Given the description of an element on the screen output the (x, y) to click on. 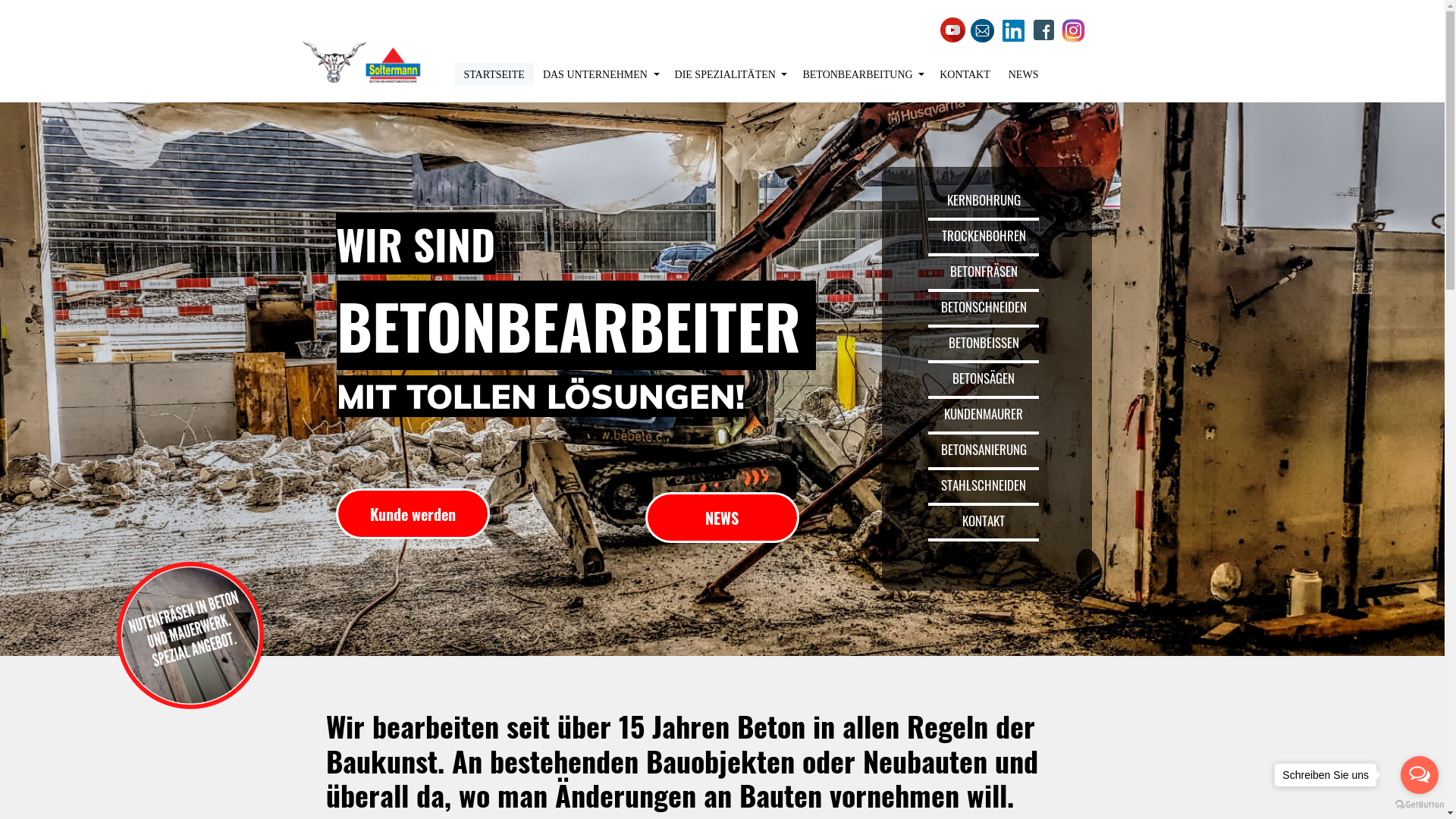
BETONSCHNEIDEN Element type: text (983, 306)
STARTSEITE Element type: text (493, 73)
TROCKENBOHREN Element type: text (983, 235)
STAHLSCHNEIDEN Element type: text (983, 484)
KUNDENMAURER Element type: text (983, 413)
BETONBEARBEITUNG Element type: text (861, 73)
DAS UNTERNEHMEN Element type: text (599, 73)
BETONSANIERUNG Element type: text (983, 449)
KERNBOHRUNG Element type: text (983, 199)
NEWS Element type: text (1023, 73)
BETONBEISSEN Element type: text (983, 342)
Kunde werden Element type: text (412, 513)
KONTAKT Element type: text (964, 73)
KONTAKT Element type: text (983, 520)
NEWS Element type: text (722, 517)
